Given the description of an element on the screen output the (x, y) to click on. 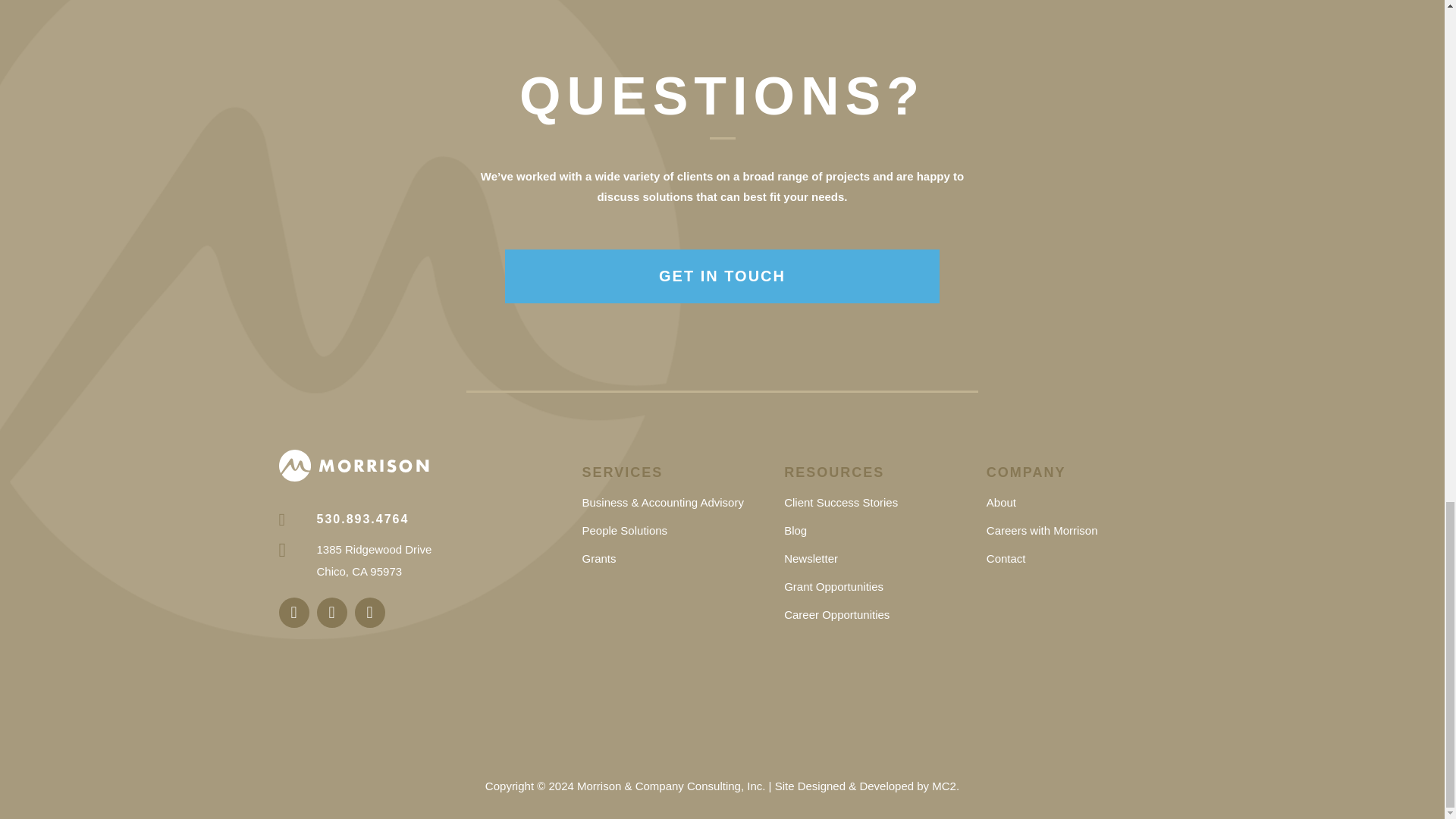
Client Success Stories (841, 502)
Career Opportunities (836, 614)
Grant Opportunities (833, 585)
MC2 (943, 785)
GET IN TOUCH (722, 276)
About (1001, 502)
Careers with Morrison (1042, 530)
LinkedIn (293, 612)
People Solutions (623, 530)
Facebook (332, 612)
